Given the description of an element on the screen output the (x, y) to click on. 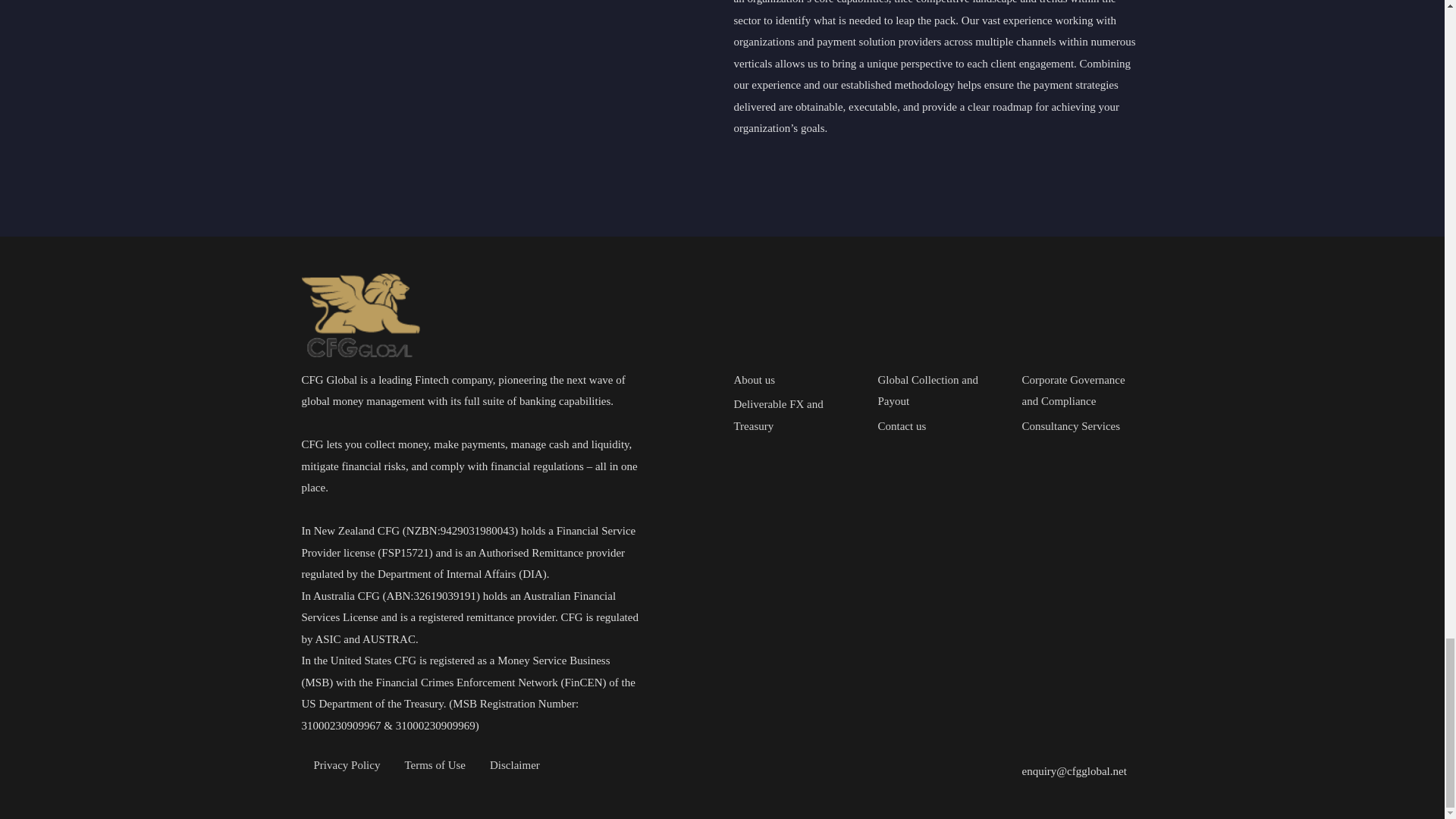
Disclaimer (514, 765)
Global Collection and Payout (937, 391)
Terms of Use (434, 765)
Deliverable FX and Treasury (793, 415)
Contact us (937, 426)
Consultancy Services (1082, 426)
Corporate Governance and Compliance (1082, 391)
About us (793, 381)
Privacy Policy (347, 765)
